Given the description of an element on the screen output the (x, y) to click on. 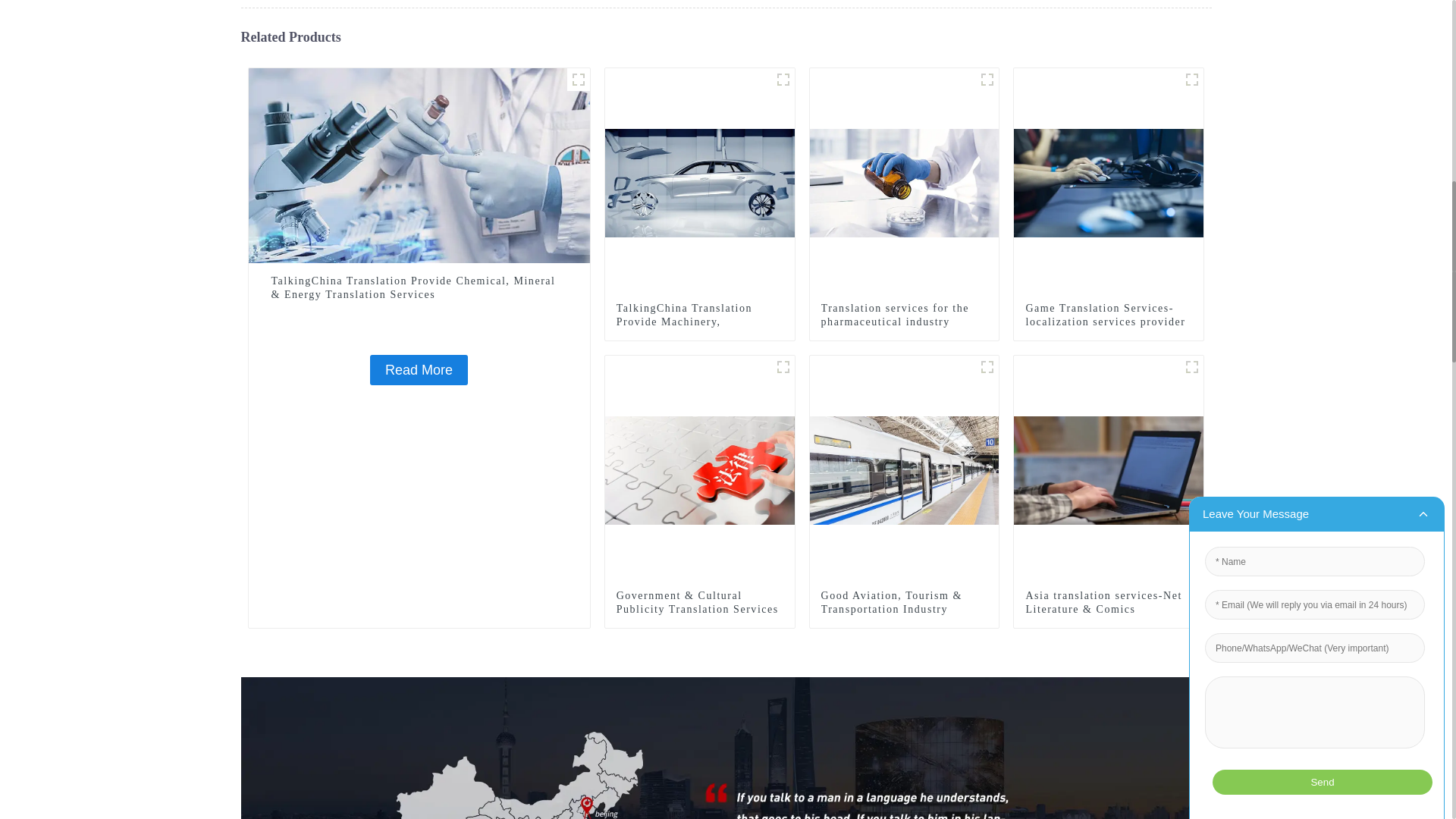
5c4992185991f (986, 366)
Game Translation Services- localization services provider (1108, 182)
5f8006b79b1a1 (1192, 78)
Translation services for the pharmaceutical industry (904, 315)
Translation services for the pharmaceutical industry (903, 182)
5c499208e9d0d (782, 78)
5c46e0991091e (578, 78)
5c49924b398ae (782, 366)
5c499268eb2d3 (986, 78)
Game Translation Services- localization services provider (1108, 315)
